Given the description of an element on the screen output the (x, y) to click on. 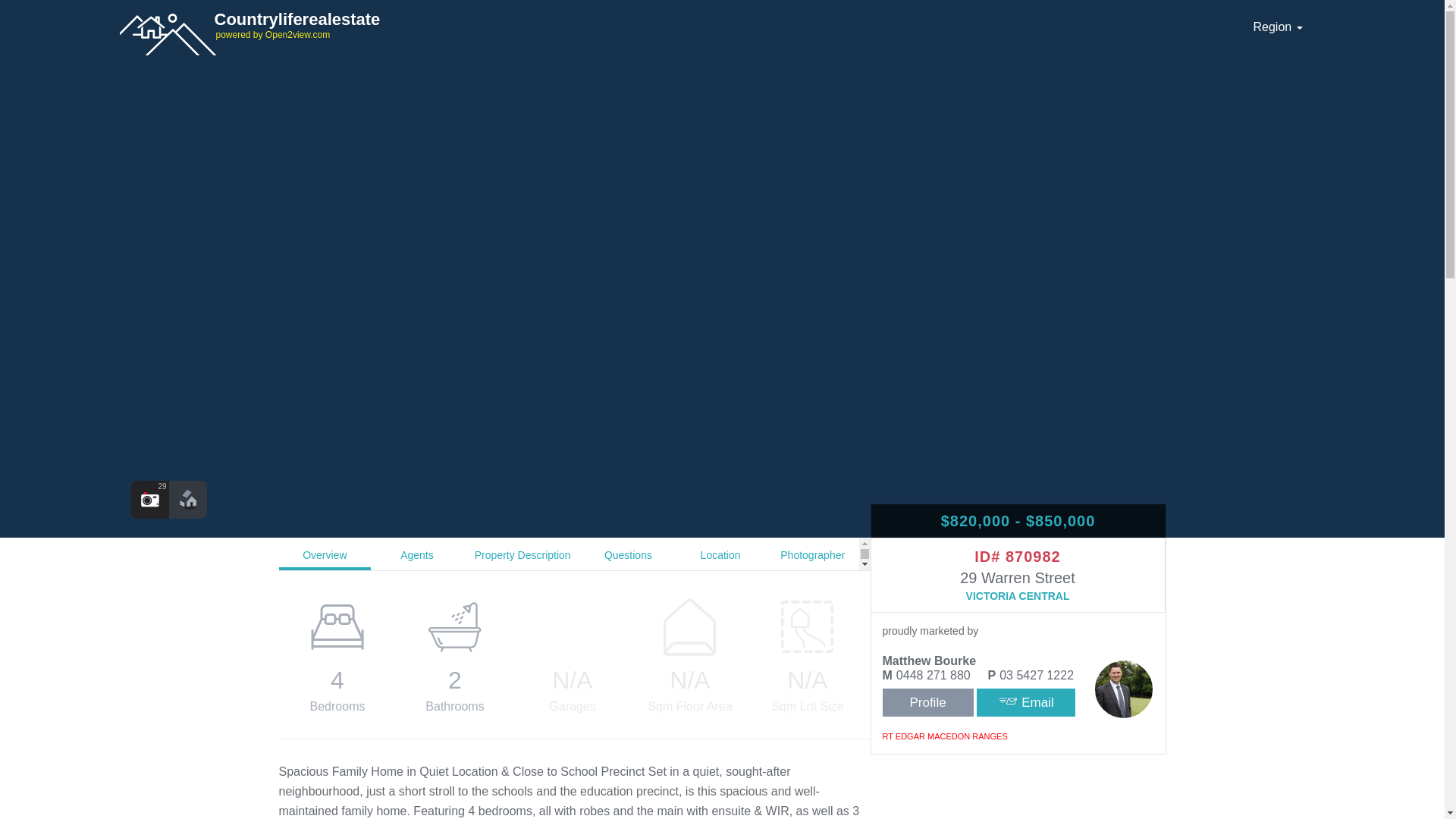
Countryliferealestate (676, 24)
